Given the description of an element on the screen output the (x, y) to click on. 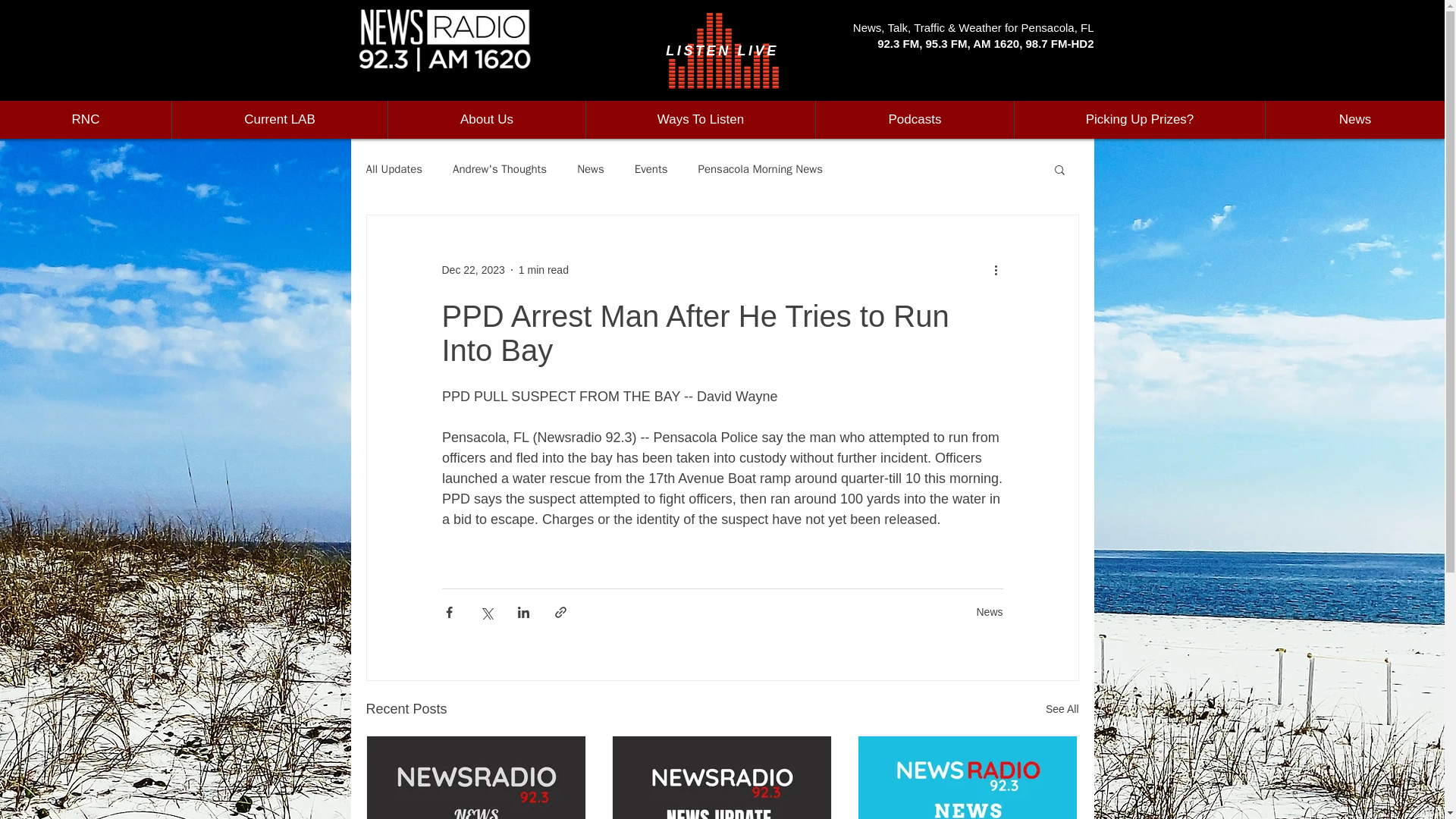
Pensacola Morning News (760, 169)
Andrew's Thoughts (499, 169)
Picking Up Prizes? (1139, 119)
Podcasts (914, 119)
About Us (486, 119)
See All (1061, 709)
1 min read (543, 269)
LISTEN LIVE (721, 50)
RNC (85, 119)
Ways To Listen (700, 119)
Dec 22, 2023 (472, 269)
All Updates (393, 169)
News (590, 169)
Current LAB (279, 119)
Events (651, 169)
